Given the description of an element on the screen output the (x, y) to click on. 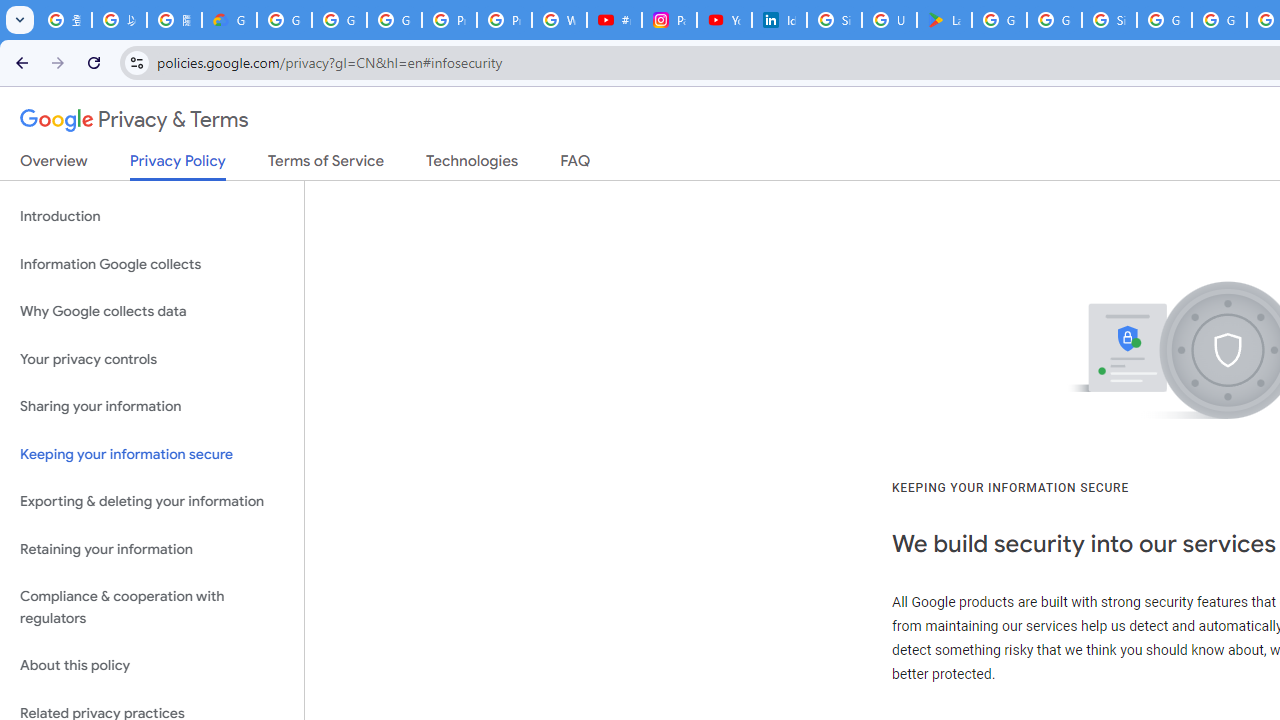
Why Google collects data (152, 312)
Last Shelter: Survival - Apps on Google Play (943, 20)
Information Google collects (152, 263)
Exporting & deleting your information (152, 502)
